Given the description of an element on the screen output the (x, y) to click on. 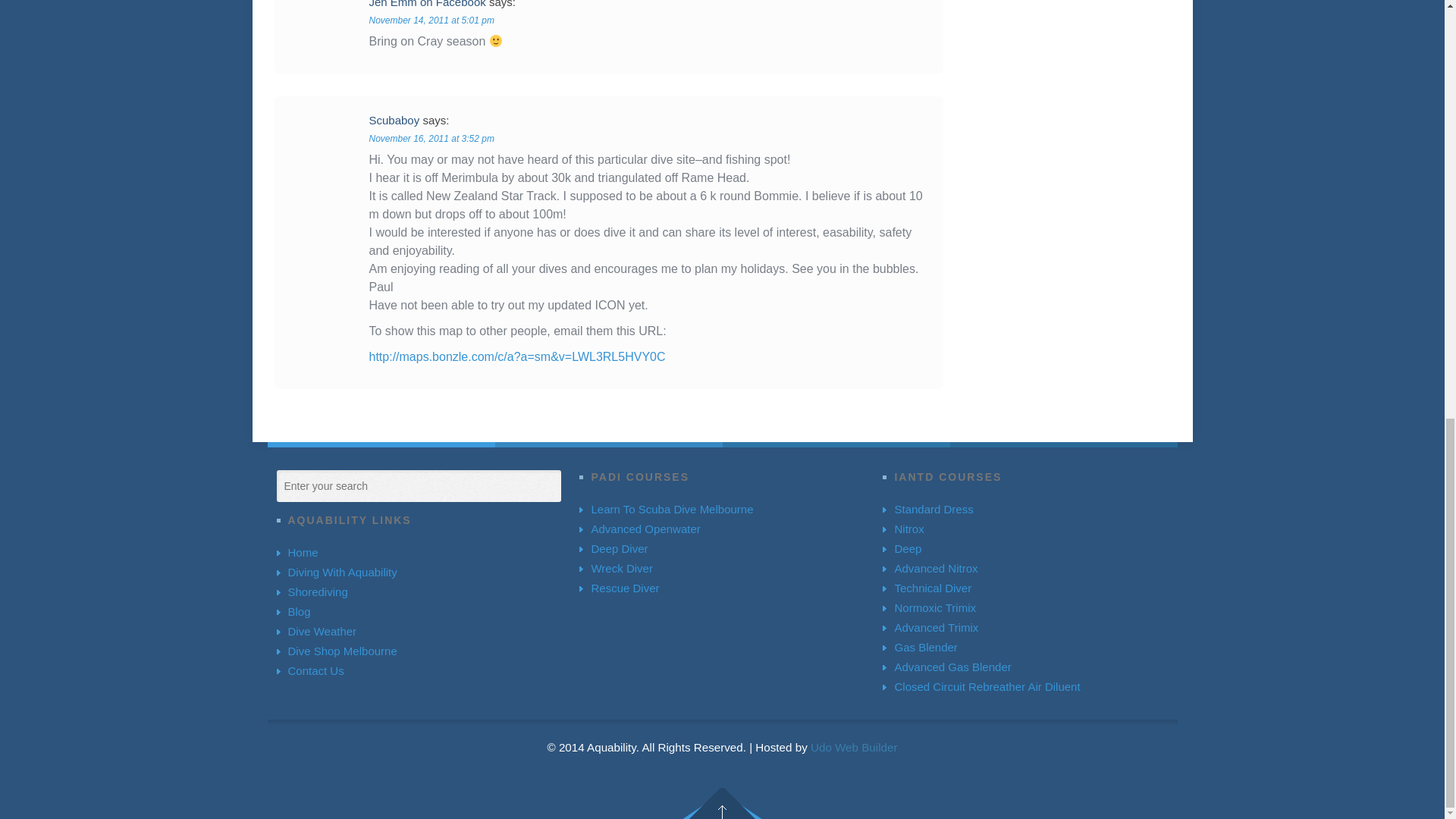
Search (290, 483)
